Given the description of an element on the screen output the (x, y) to click on. 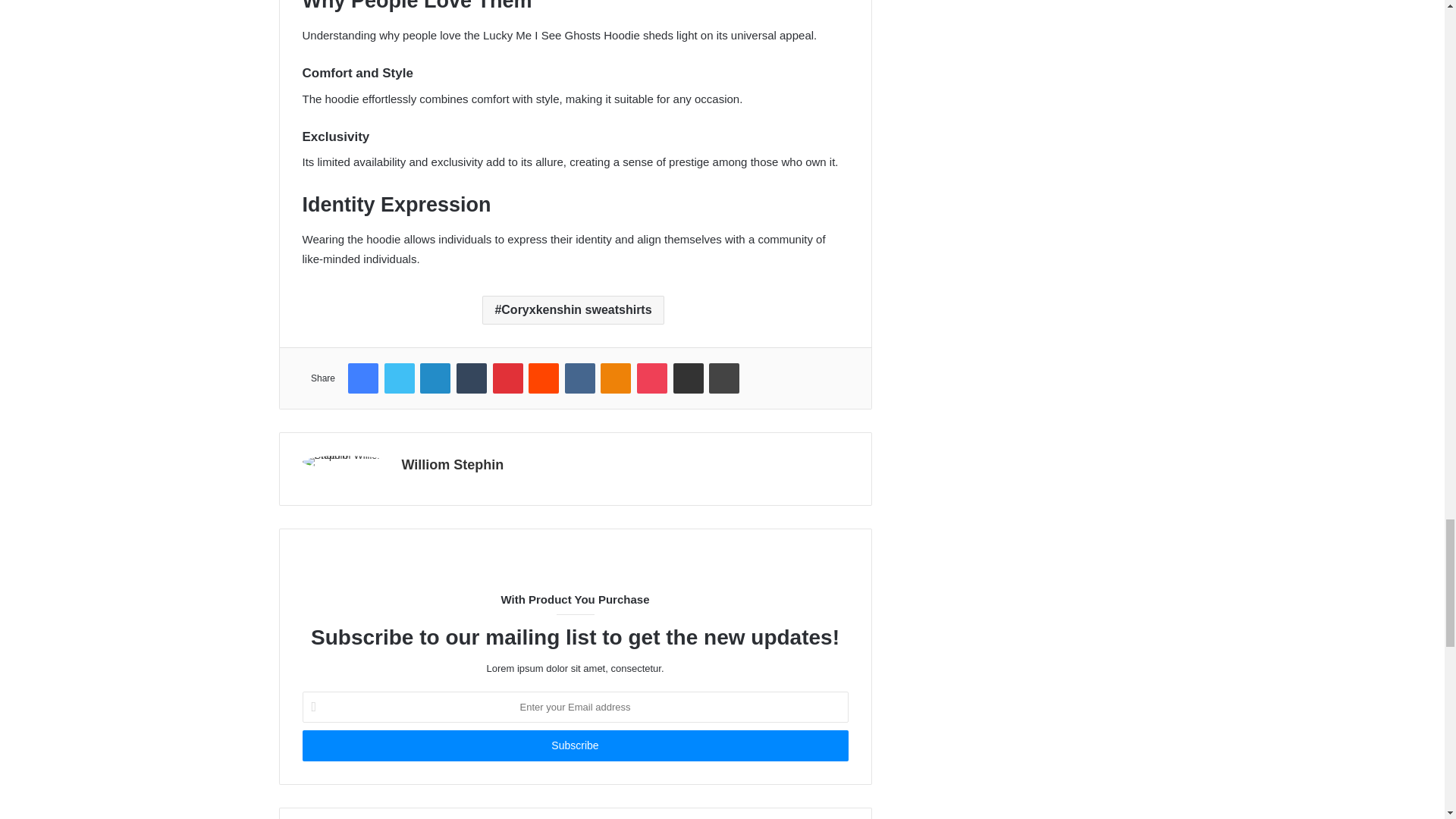
Subscribe (574, 745)
